Given the description of an element on the screen output the (x, y) to click on. 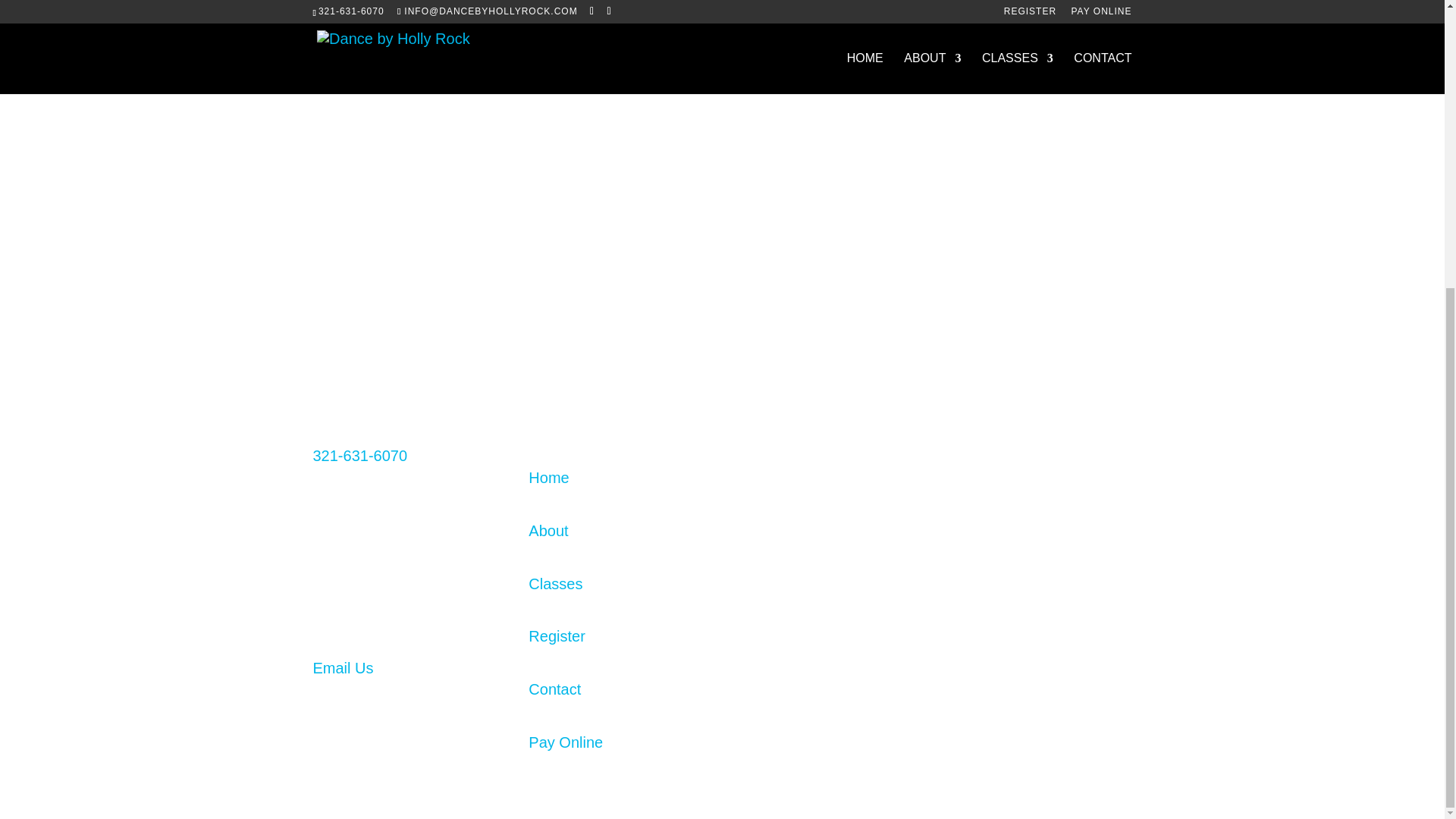
Classes (555, 583)
Register (556, 636)
Follow on Facebook (972, 474)
Home (548, 477)
About (547, 530)
Email Us (342, 668)
321-631-6070 (360, 455)
Contact (554, 688)
Follow on Instagram (1002, 474)
Pay Online (565, 742)
